Given the description of an element on the screen output the (x, y) to click on. 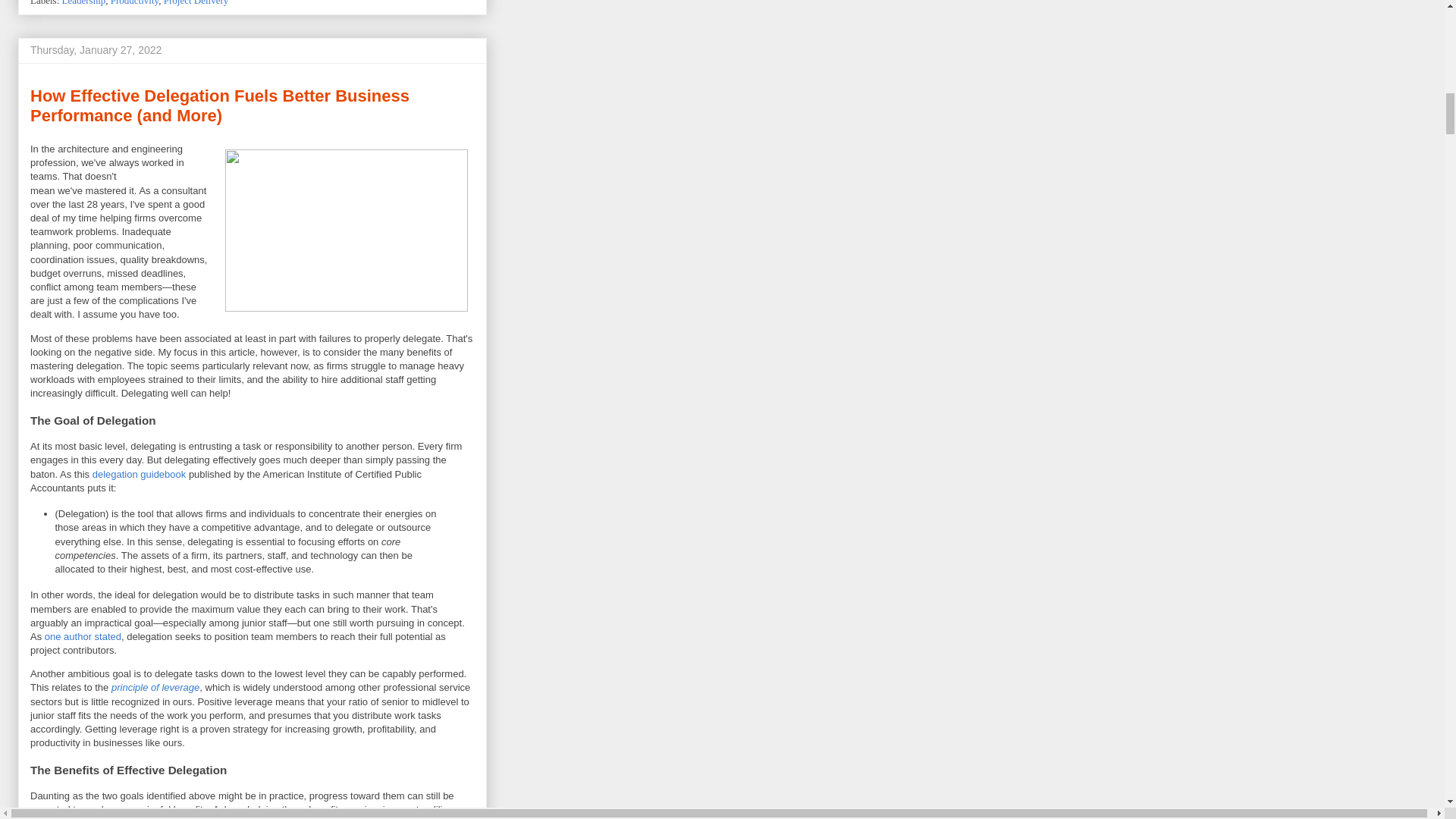
Project Delivery (195, 2)
Leadership (84, 2)
principle of leverage (155, 686)
delegation guidebook (139, 473)
Productivity (134, 2)
one author stated (82, 636)
